Given the description of an element on the screen output the (x, y) to click on. 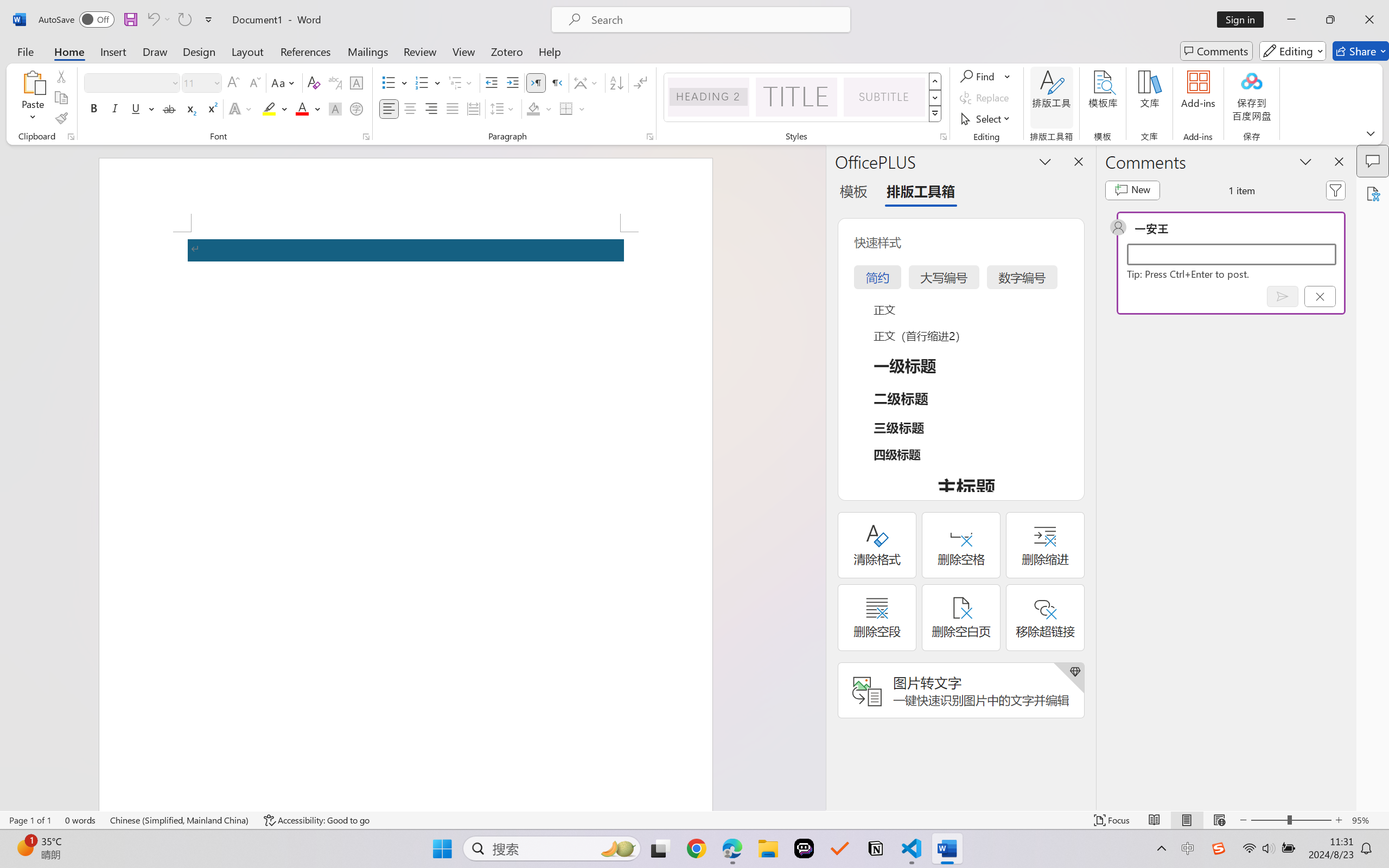
Undo Apply Quick Style Set (152, 19)
Cancel (1320, 296)
